Given the description of an element on the screen output the (x, y) to click on. 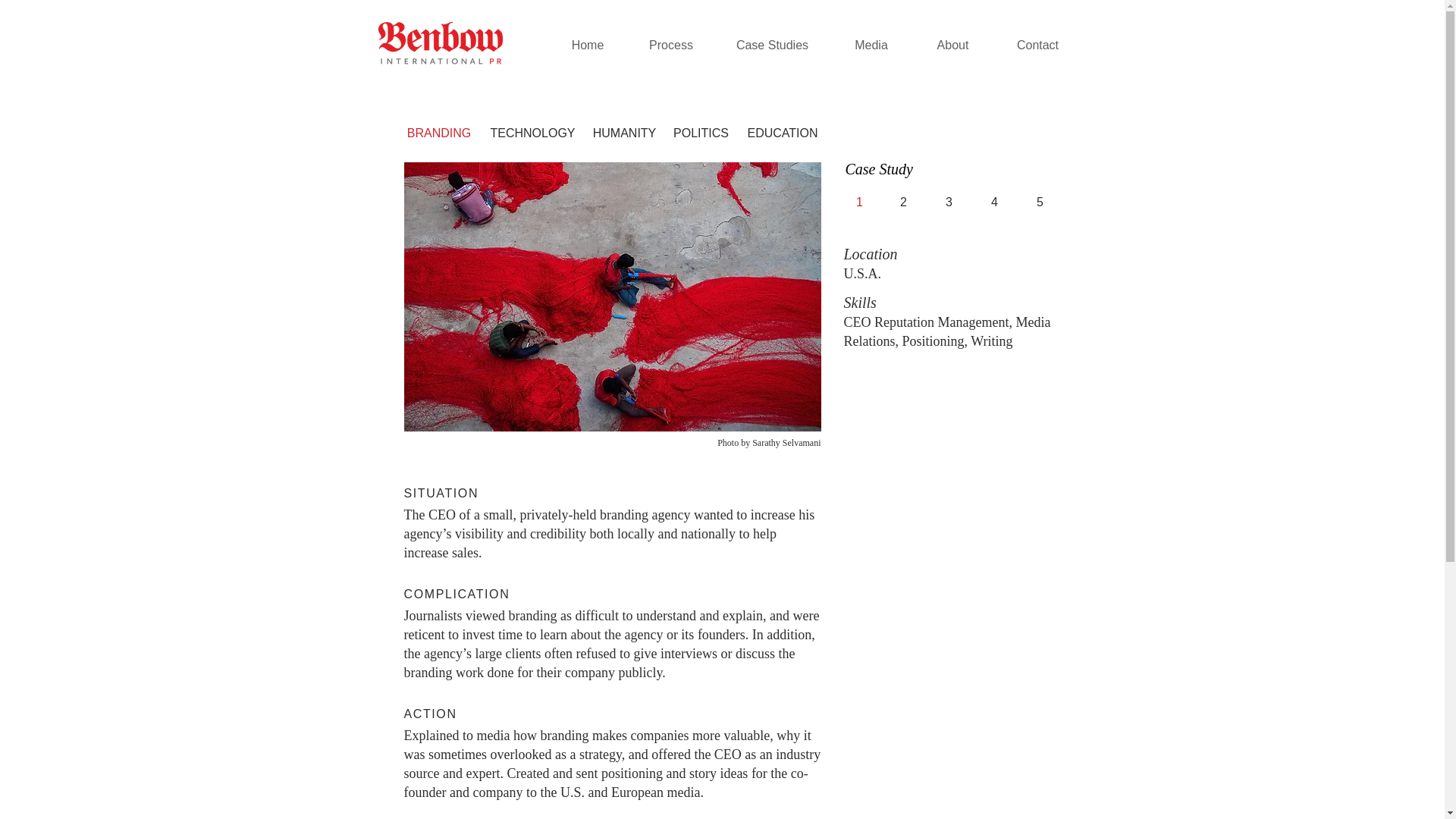
Photo by Sarathy Selvamani (769, 442)
3 (948, 202)
1 (858, 202)
About (952, 45)
HUMANITY (623, 132)
BRANDING (438, 132)
Home (587, 45)
Contact (1037, 45)
POLITICS (700, 132)
EDUCATION (781, 132)
5 (1039, 202)
TECHNOLOGY (532, 132)
Media (870, 45)
2 (902, 202)
Case Studies (771, 45)
